Given the description of an element on the screen output the (x, y) to click on. 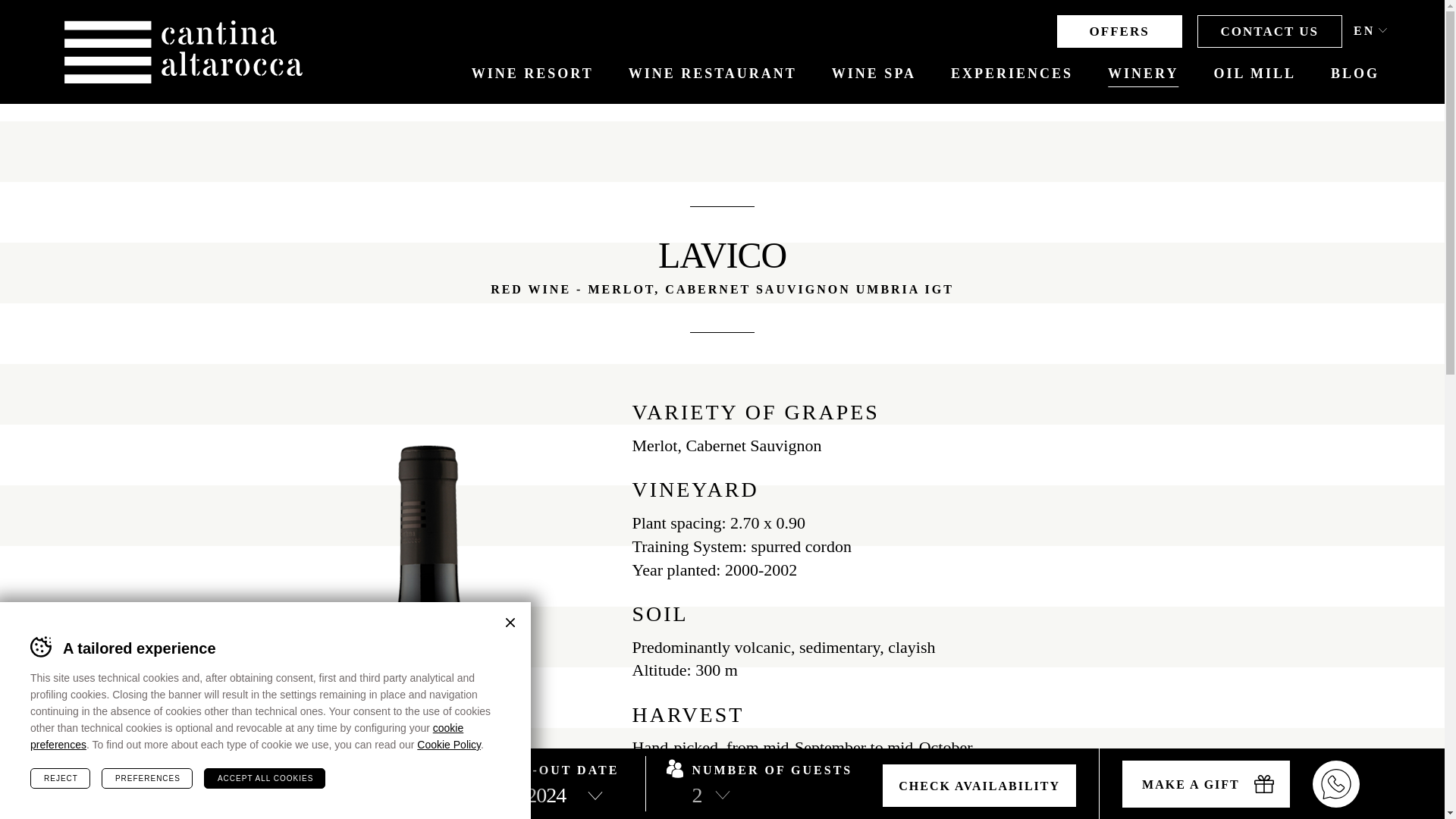
WINERY (1142, 73)
BLOG (1354, 73)
CONTACT US (1269, 31)
OIL MILL (1253, 73)
WINE RESORT (532, 73)
EXPERIENCES (1011, 73)
WINE SPA (873, 73)
OFFERS (1119, 31)
WINE RESTAURANT (712, 73)
Check availability (978, 785)
